Given the description of an element on the screen output the (x, y) to click on. 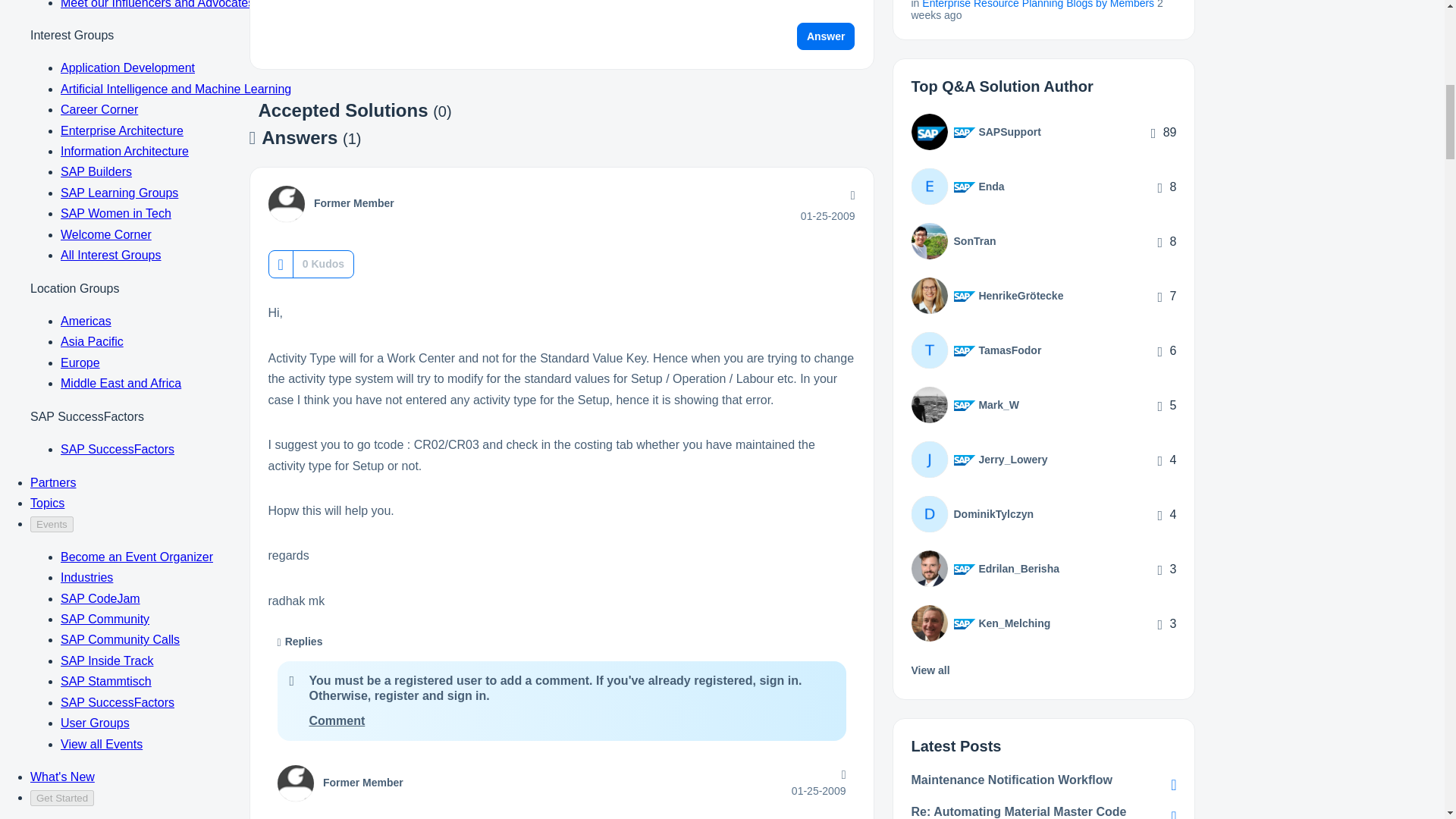
The total number of kudos this post has received. (323, 263)
Answer (826, 35)
Posted on (828, 215)
Comment (336, 720)
